Given the description of an element on the screen output the (x, y) to click on. 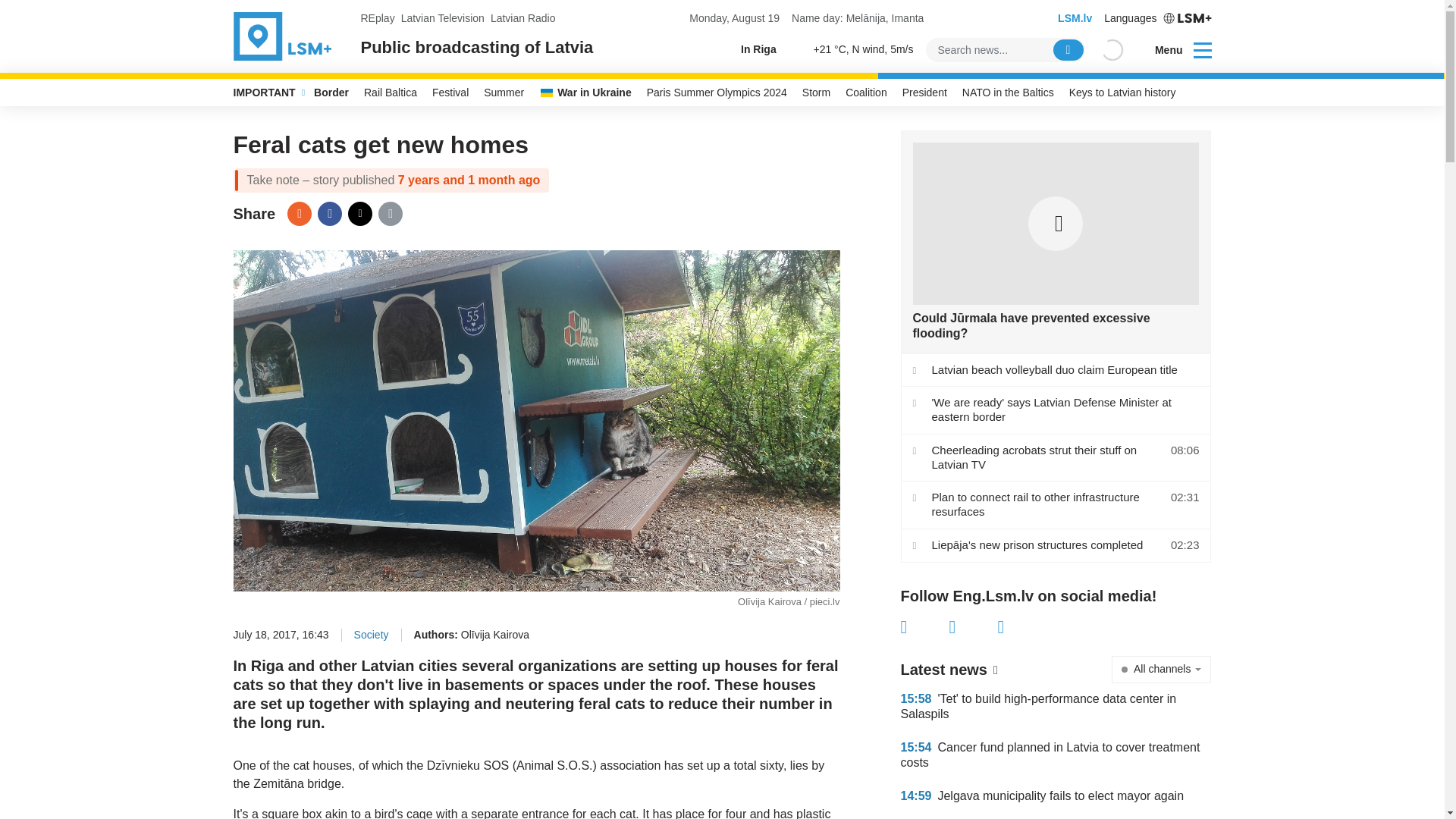
Keys to Latvian history (1122, 92)
Menu (1173, 50)
Storm (816, 92)
Rail Baltica (390, 92)
Paris Summer Olympics 2024 (716, 92)
Facebook (925, 627)
Linkedin (1021, 627)
Facebook (329, 213)
X (359, 213)
President (925, 92)
